Given the description of an element on the screen output the (x, y) to click on. 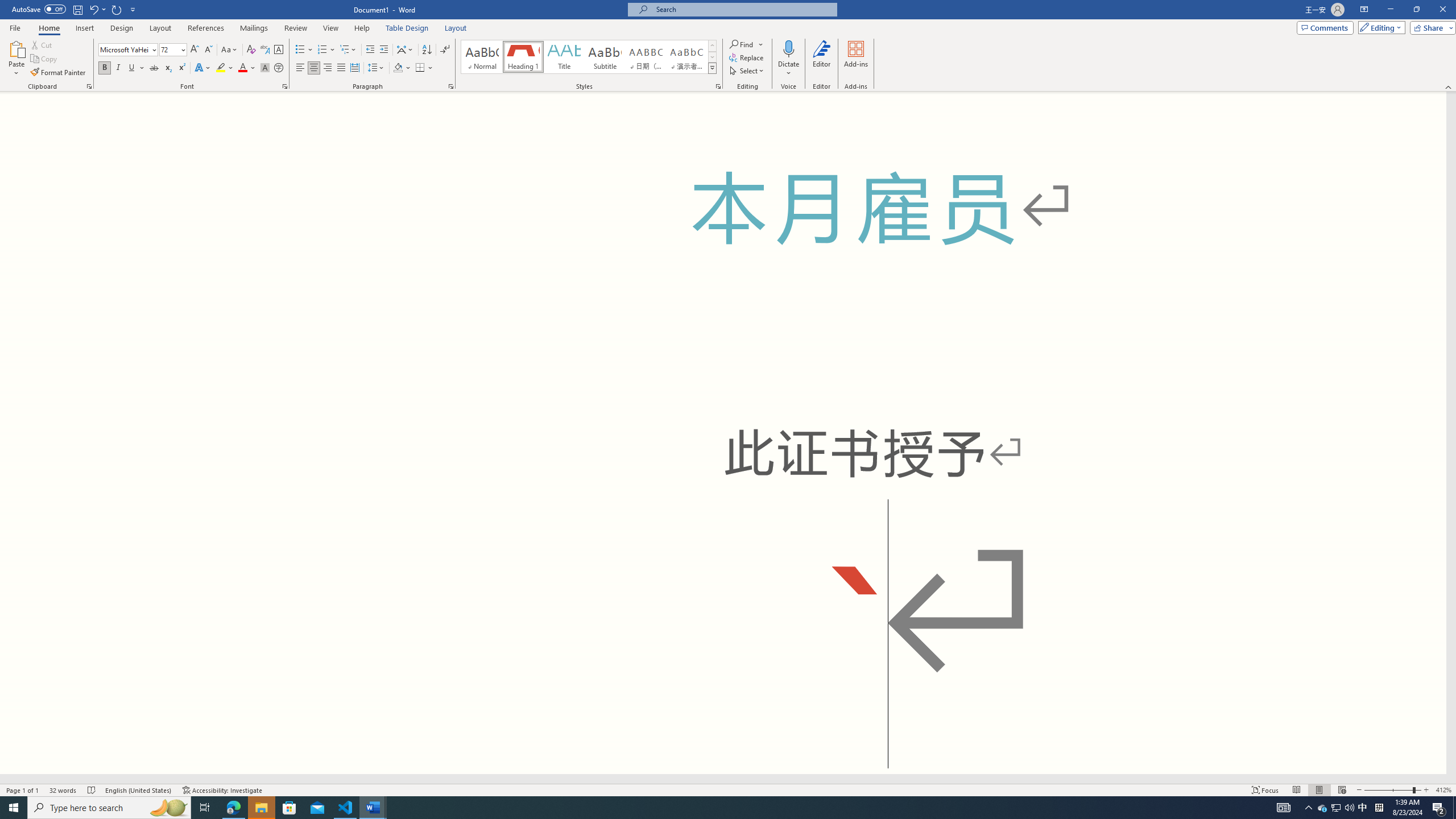
Title (564, 56)
